Given the description of an element on the screen output the (x, y) to click on. 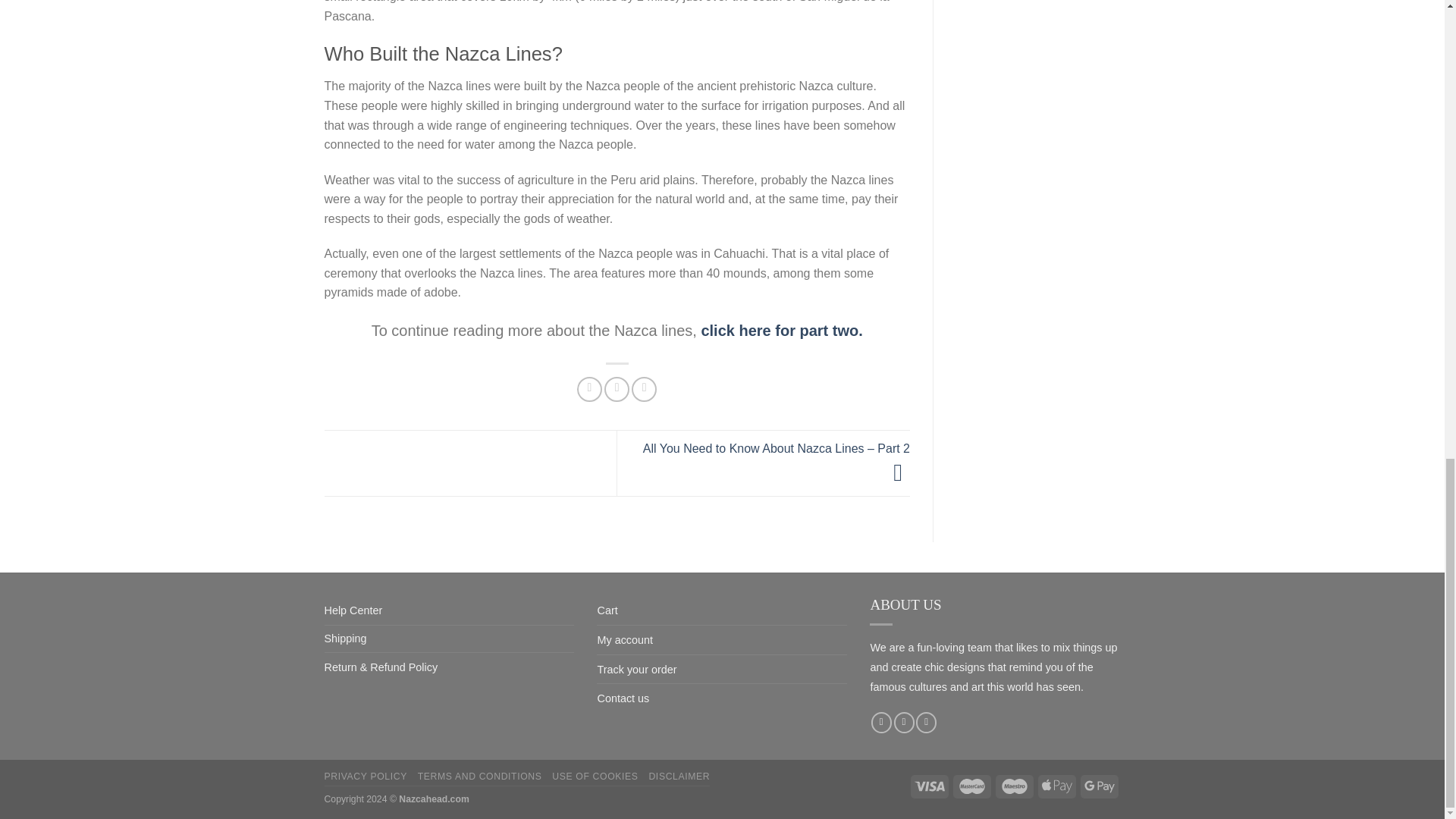
click here for part two. (780, 330)
Share on Facebook (589, 389)
Share on Twitter (616, 389)
Follow on Instagram (903, 722)
Pin on Pinterest (643, 389)
Follow on Facebook (880, 722)
Send us an email (925, 722)
